Given the description of an element on the screen output the (x, y) to click on. 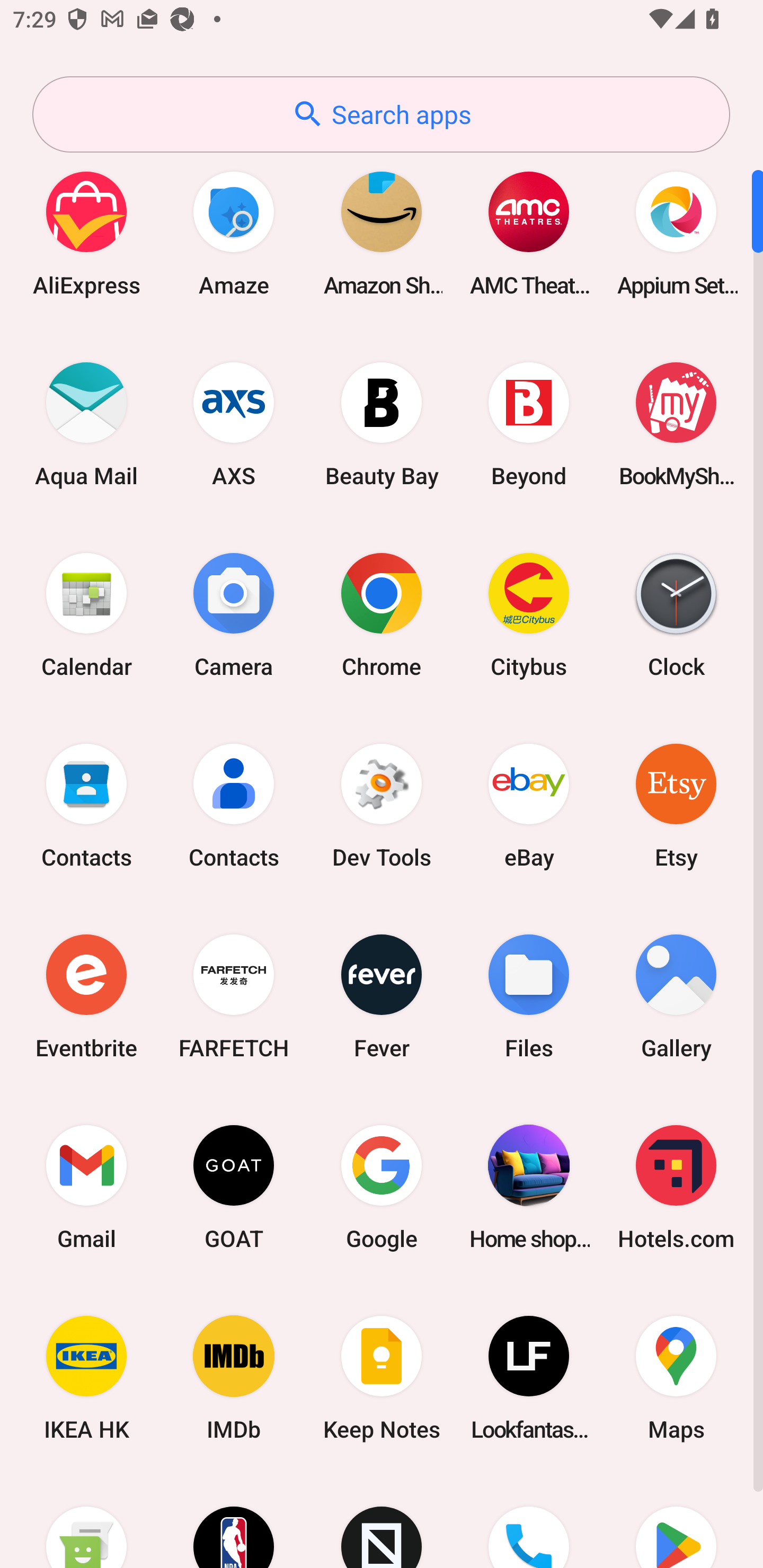
  Search apps (381, 114)
AliExpress (86, 233)
Amaze (233, 233)
Amazon Shopping (381, 233)
AMC Theatres (528, 233)
Appium Settings (676, 233)
Aqua Mail (86, 424)
AXS (233, 424)
Beauty Bay (381, 424)
Beyond (528, 424)
BookMyShow (676, 424)
Calendar (86, 614)
Camera (233, 614)
Chrome (381, 614)
Citybus (528, 614)
Clock (676, 614)
Contacts (86, 805)
Contacts (233, 805)
Dev Tools (381, 805)
eBay (528, 805)
Etsy (676, 805)
Eventbrite (86, 996)
FARFETCH (233, 996)
Fever (381, 996)
Files (528, 996)
Gallery (676, 996)
Gmail (86, 1186)
GOAT (233, 1186)
Google (381, 1186)
Home shopping (528, 1186)
Hotels.com (676, 1186)
IKEA HK (86, 1377)
IMDb (233, 1377)
Keep Notes (381, 1377)
Lookfantastic (528, 1377)
Maps (676, 1377)
Messaging (86, 1520)
NBA (233, 1520)
Novelship (381, 1520)
Phone (528, 1520)
Play Store (676, 1520)
